Given the description of an element on the screen output the (x, y) to click on. 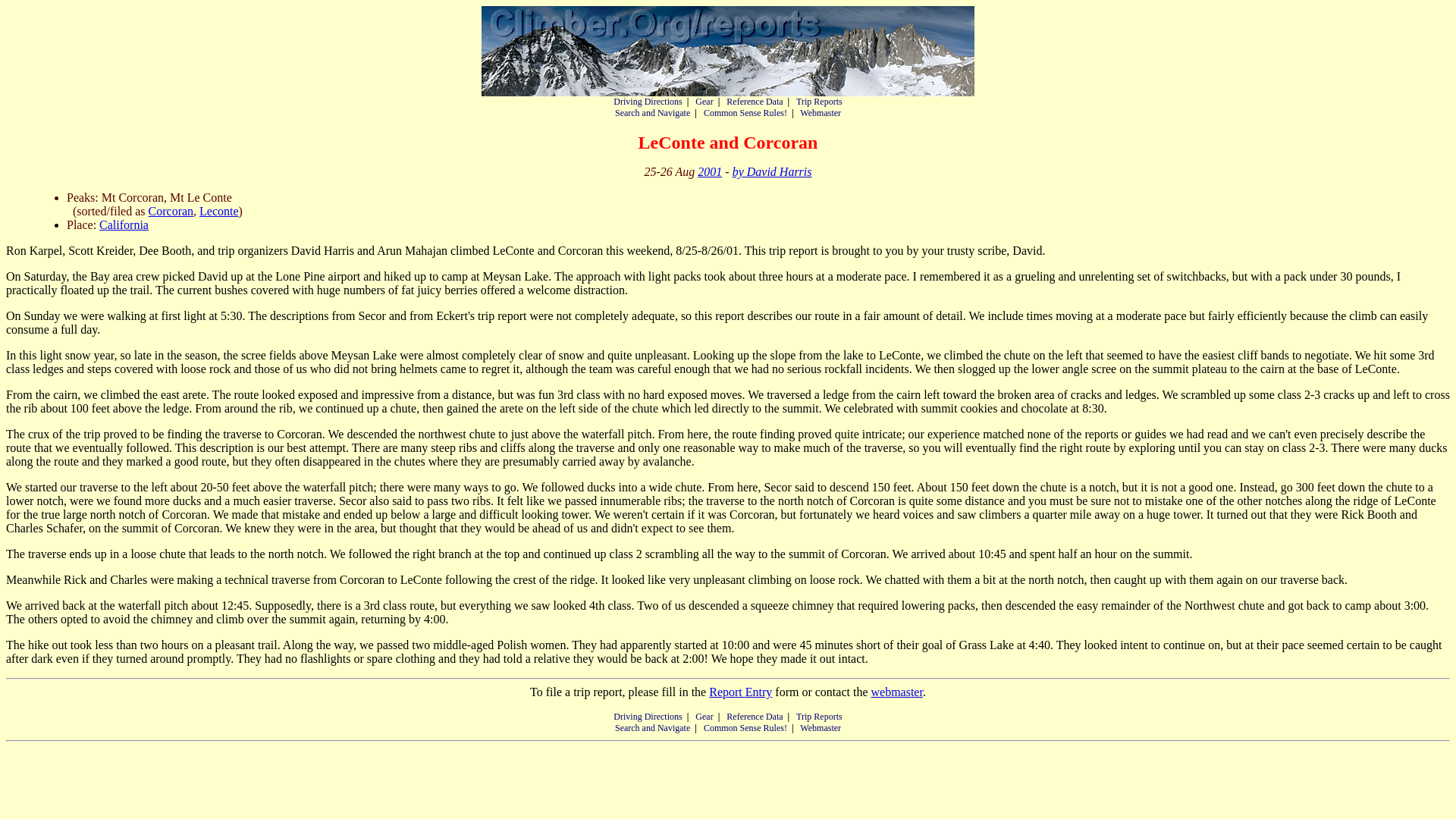
Climber.Org Home Page (727, 50)
Reference Data (754, 101)
Reference Data (754, 716)
Common Sense Rules! (745, 727)
Driving Directions (646, 716)
by David Harris (772, 171)
Webmaster (820, 112)
webmaster (895, 691)
Webmaster (820, 727)
Driving Directions (646, 101)
California (123, 224)
2001 (709, 171)
Search and Navigate (652, 112)
Common Sense Rules! (745, 112)
Gear (704, 101)
